Given the description of an element on the screen output the (x, y) to click on. 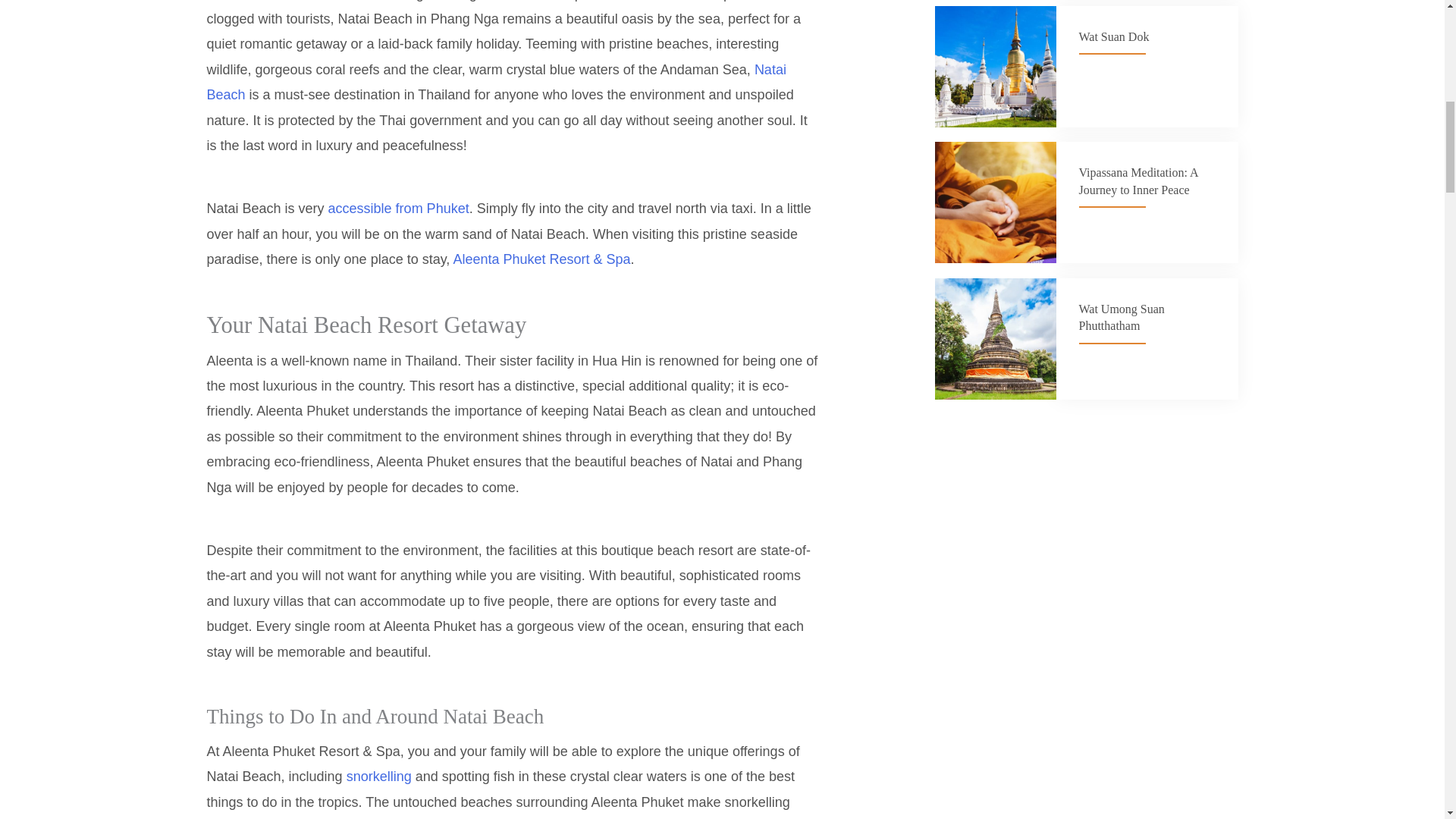
accessible from Phuket (398, 208)
Natai Beach (496, 82)
snorkelling (379, 776)
